Given the description of an element on the screen output the (x, y) to click on. 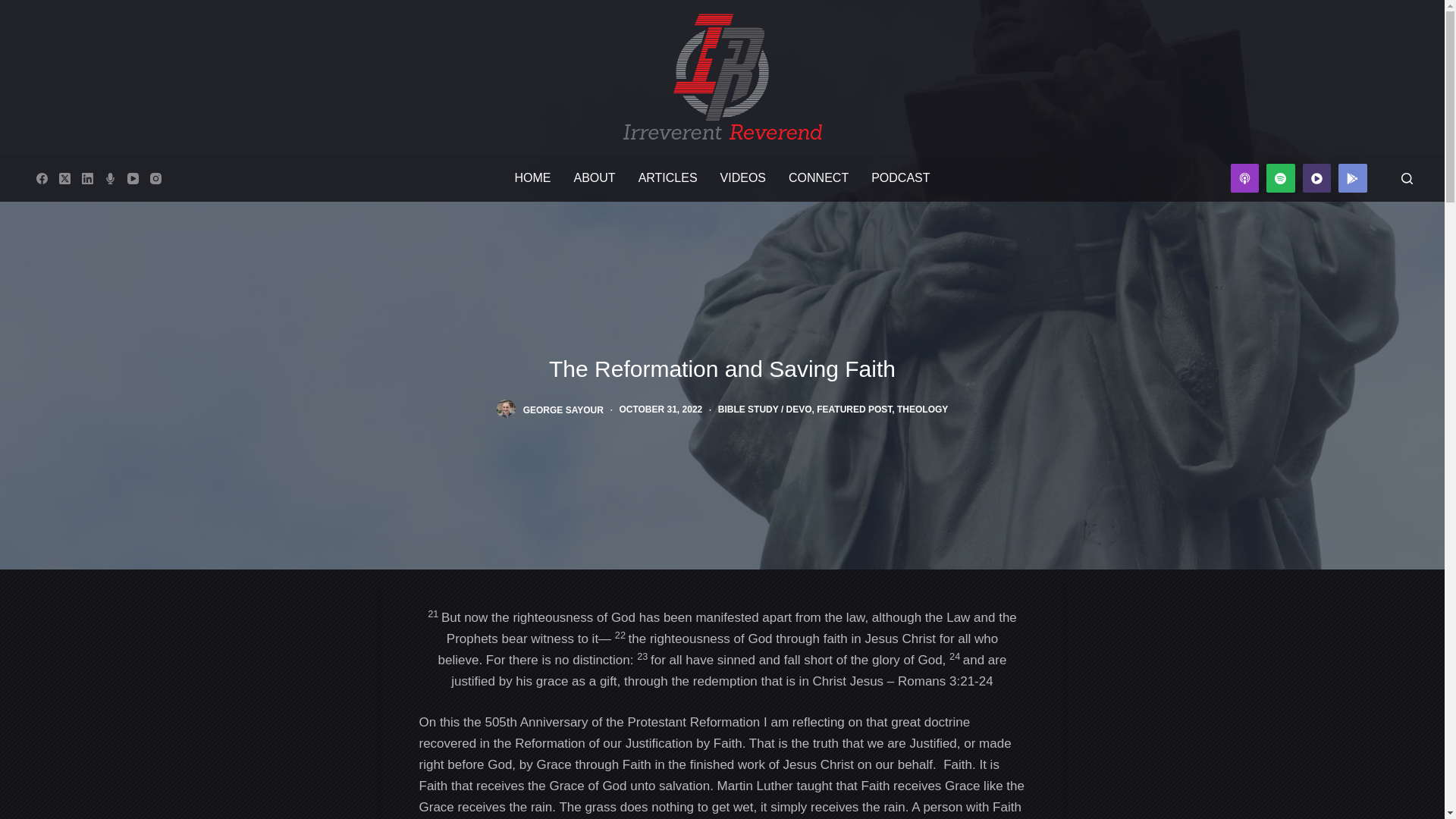
ABOUT (594, 177)
CONNECT (818, 177)
GEORGE SAYOUR (563, 409)
PODCAST (900, 177)
HOME (532, 177)
VIDEOS (743, 177)
ARTICLES (668, 177)
The Reformation and Saving Faith (721, 368)
Skip to content (15, 7)
Posts by George Sayour (563, 409)
